Given the description of an element on the screen output the (x, y) to click on. 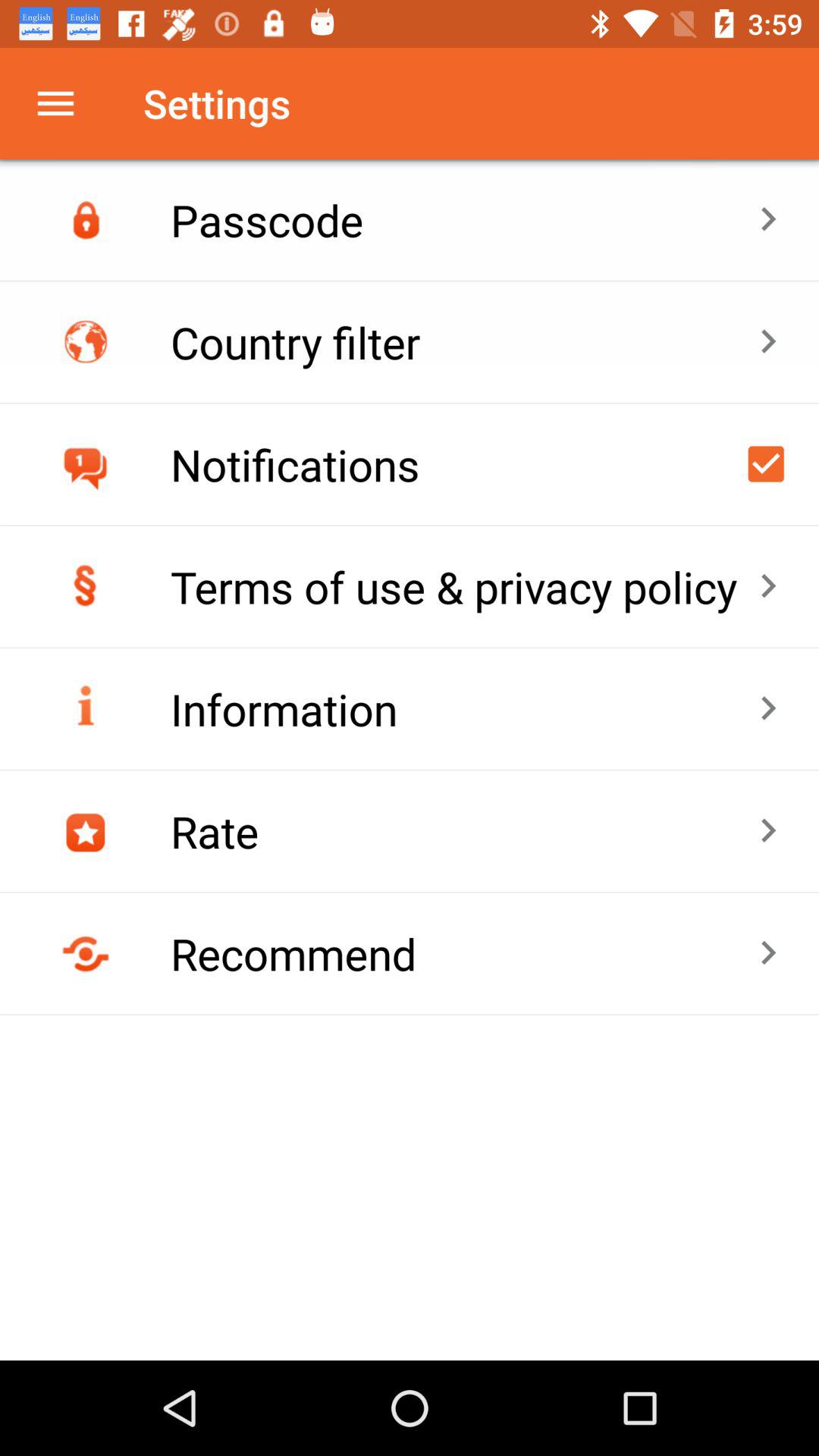
press the passcode item (464, 219)
